Given the description of an element on the screen output the (x, y) to click on. 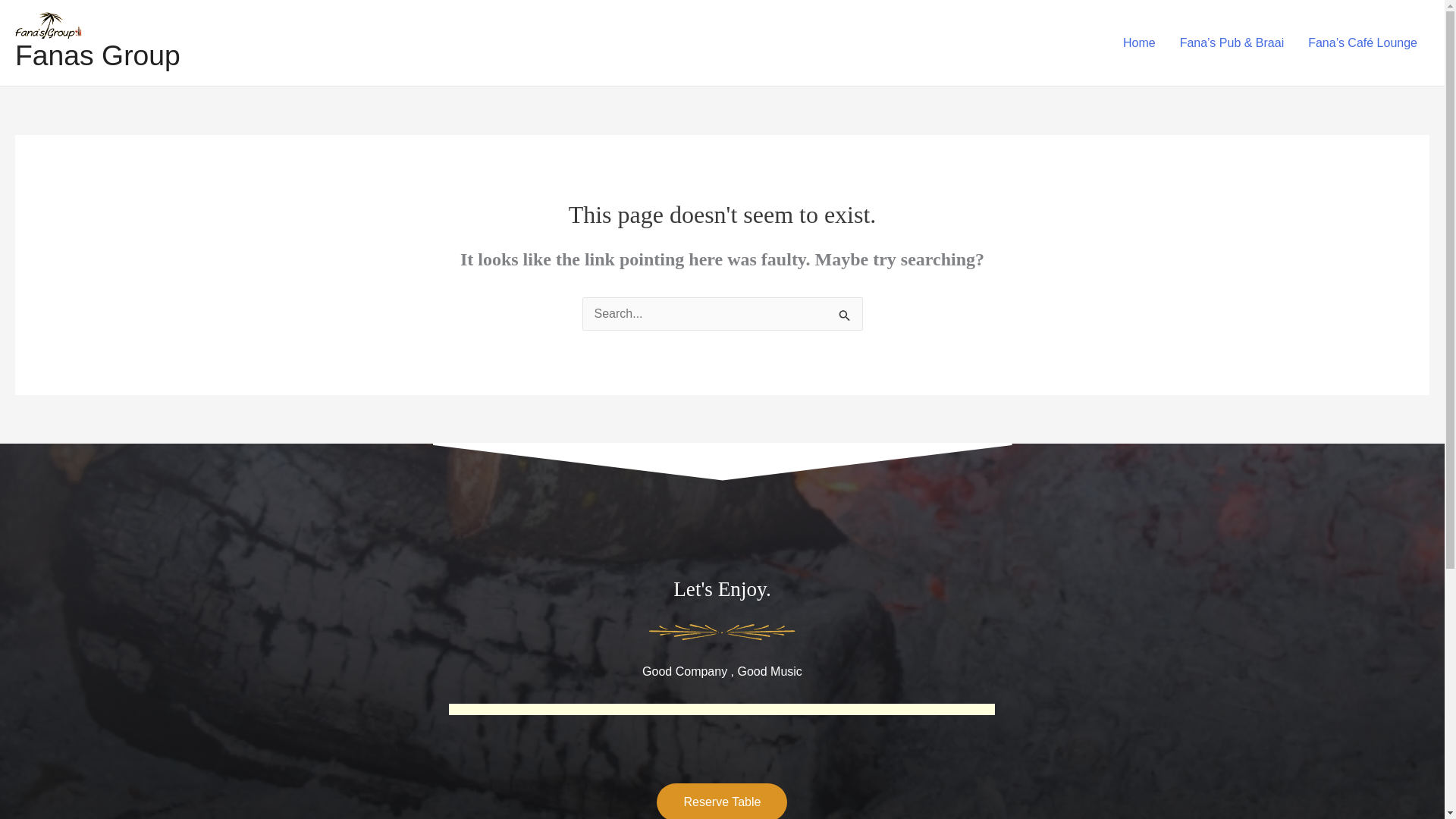
Home (1138, 43)
Fanas Group (97, 55)
Reserve Table (721, 800)
